Given the description of an element on the screen output the (x, y) to click on. 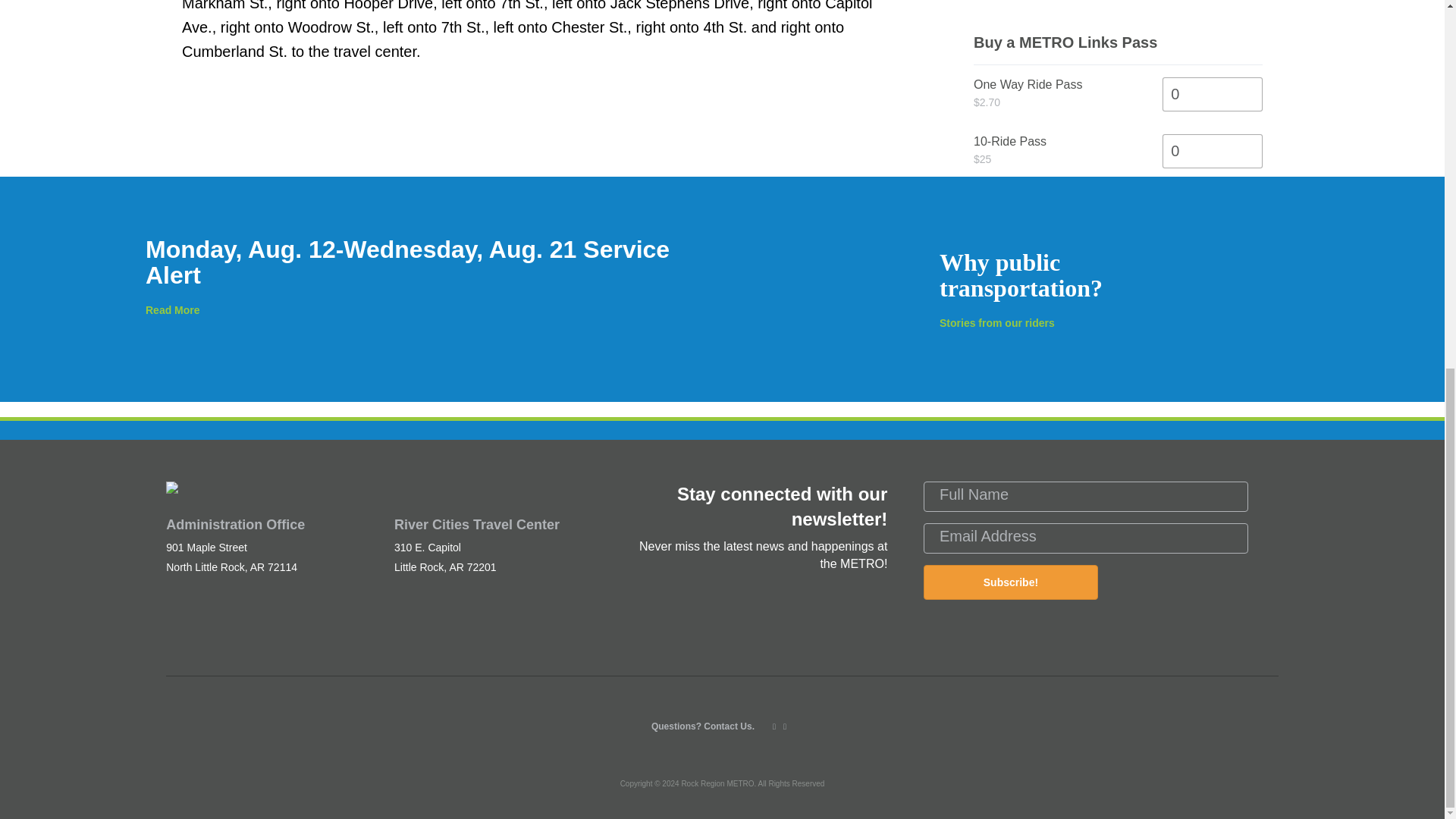
0 (1211, 151)
Subscribe! (1010, 582)
0 (1211, 93)
Buy Now (1030, 207)
